Given the description of an element on the screen output the (x, y) to click on. 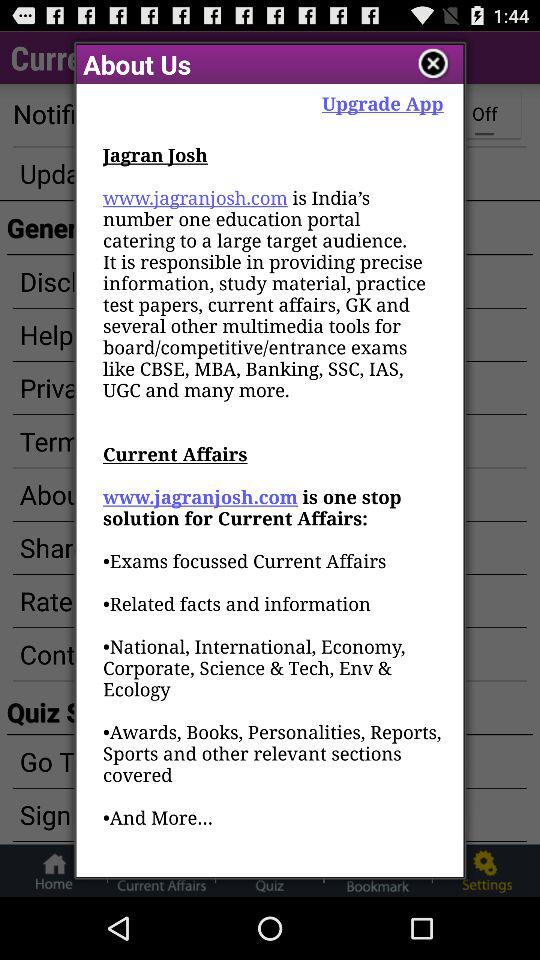
tap item next to the about us app (382, 102)
